Given the description of an element on the screen output the (x, y) to click on. 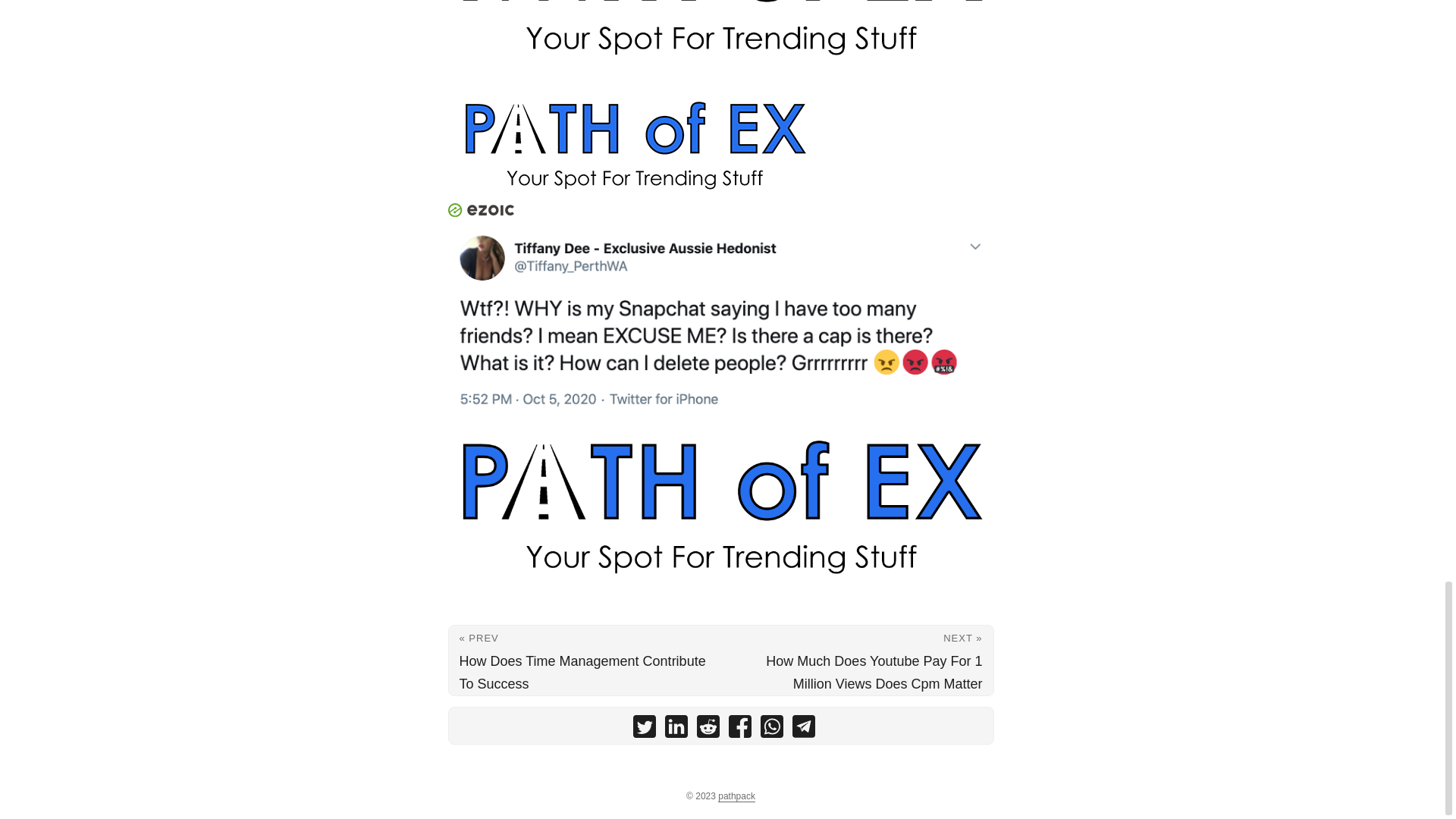
pathpack (736, 796)
